Given the description of an element on the screen output the (x, y) to click on. 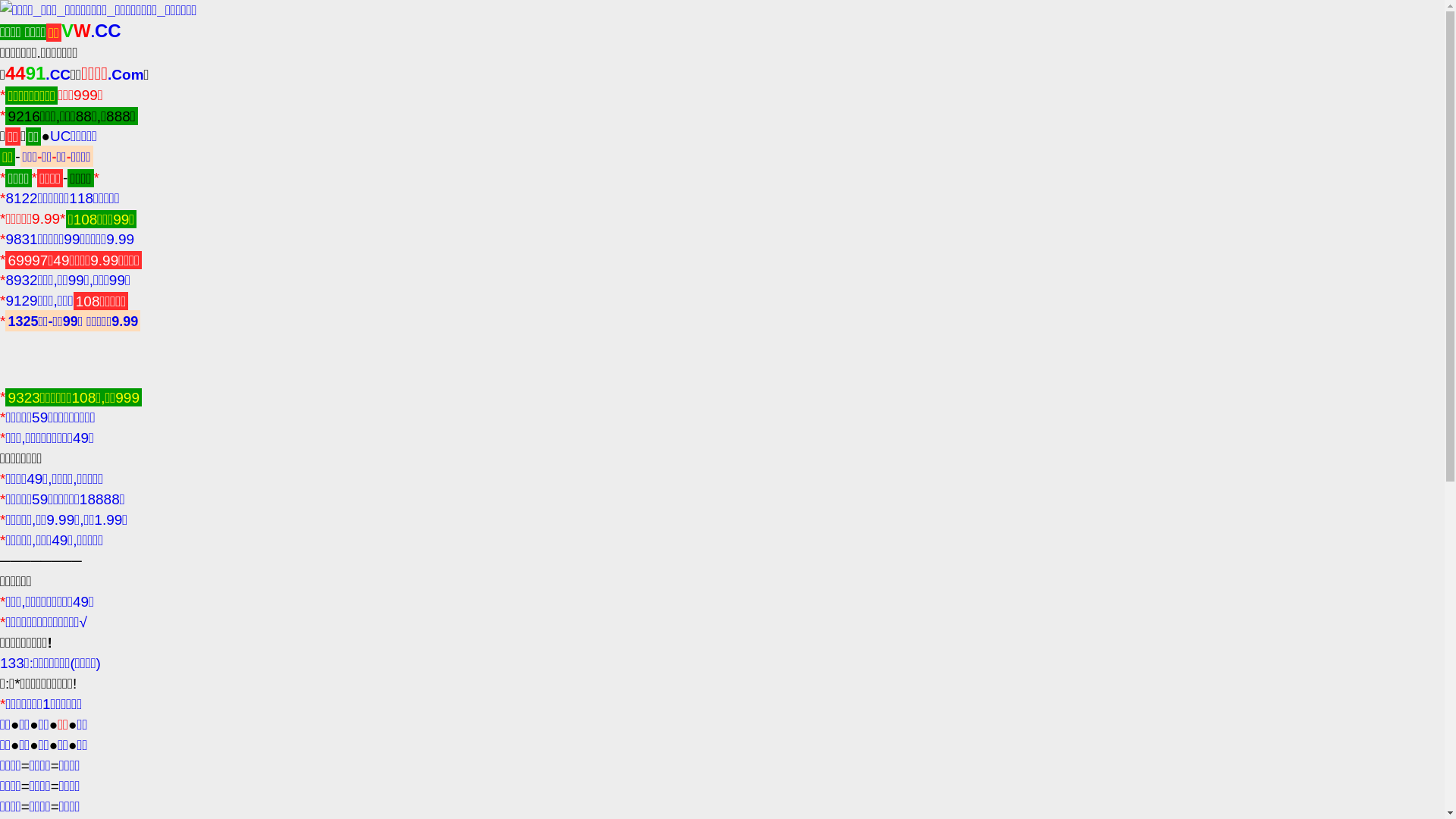
4491.CC Element type: text (37, 74)
VW.CC Element type: text (91, 32)
